Given the description of an element on the screen output the (x, y) to click on. 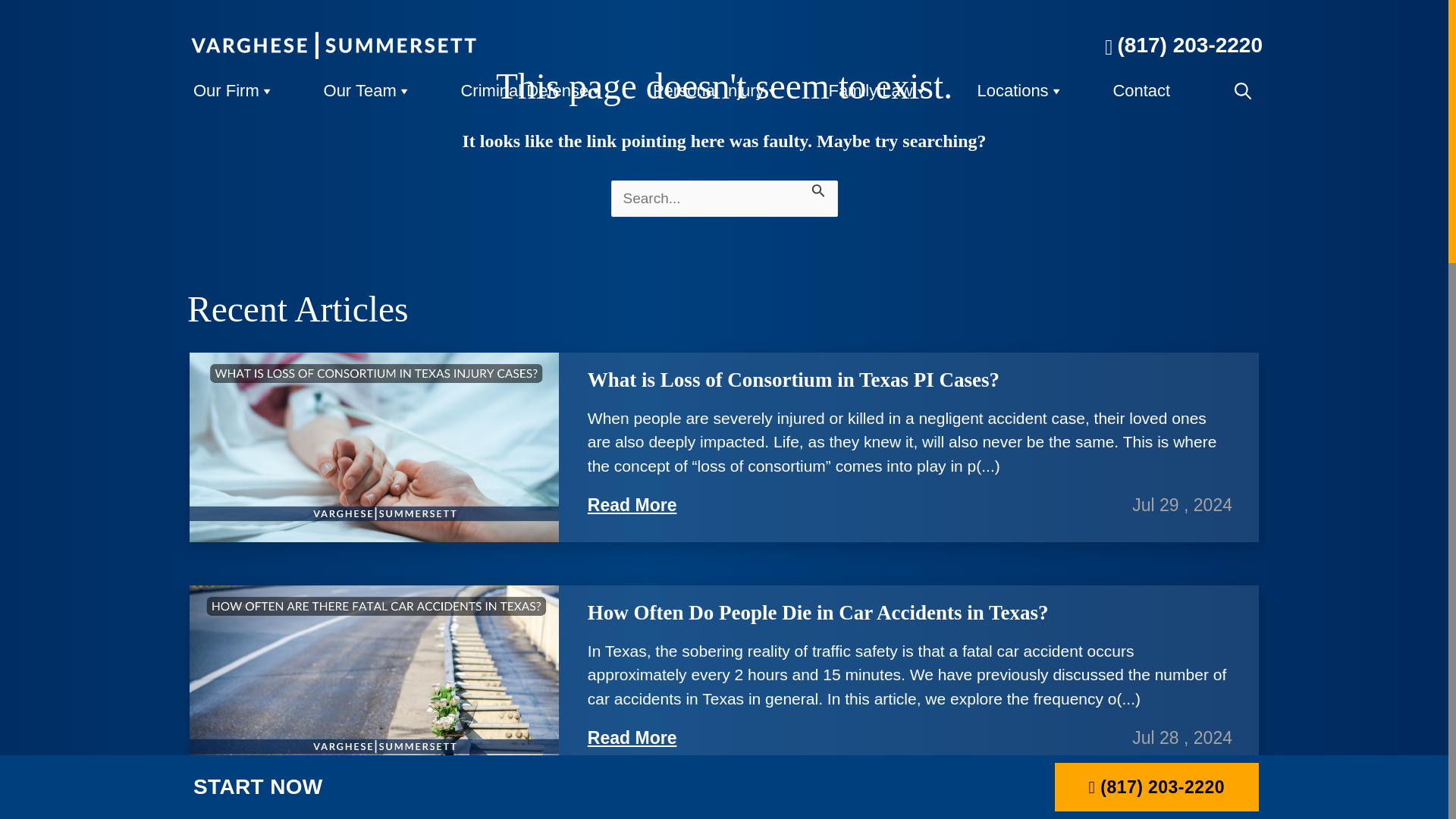
Search icon (1242, 90)
Our Team (361, 91)
Our Firm (228, 91)
